Given the description of an element on the screen output the (x, y) to click on. 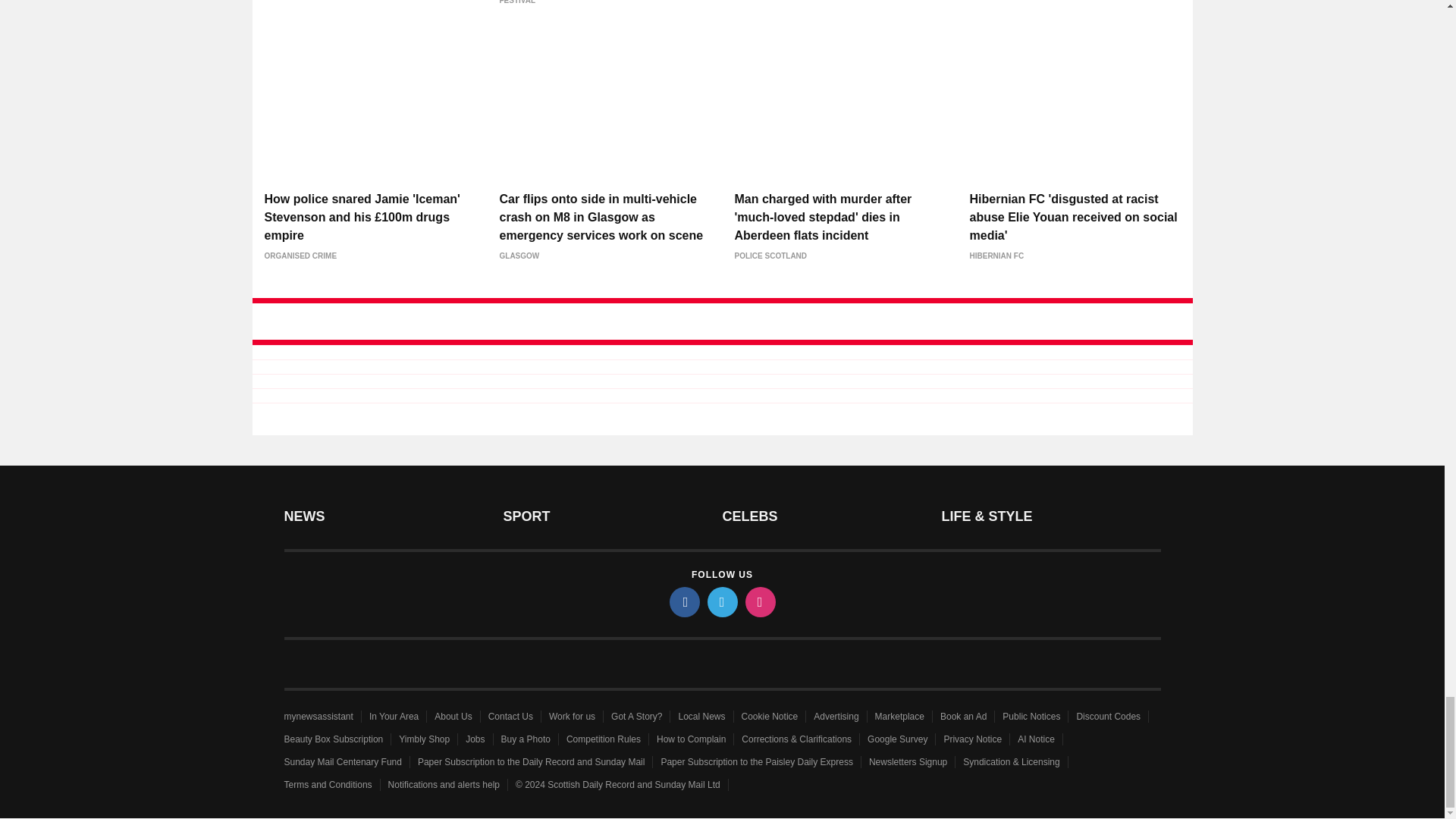
instagram (759, 602)
twitter (721, 602)
facebook (683, 602)
